Given the description of an element on the screen output the (x, y) to click on. 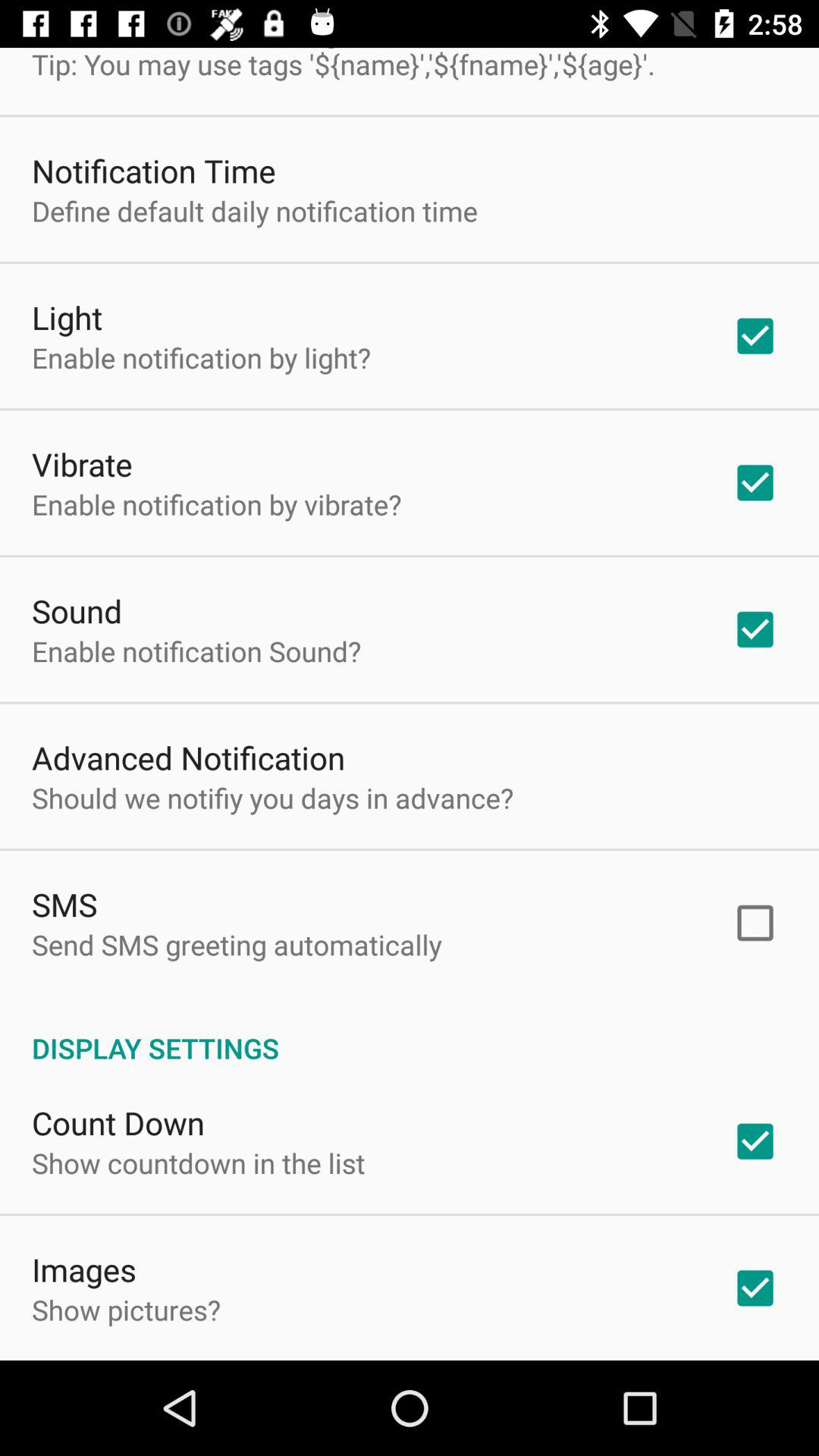
turn off define default daily (254, 210)
